Given the description of an element on the screen output the (x, y) to click on. 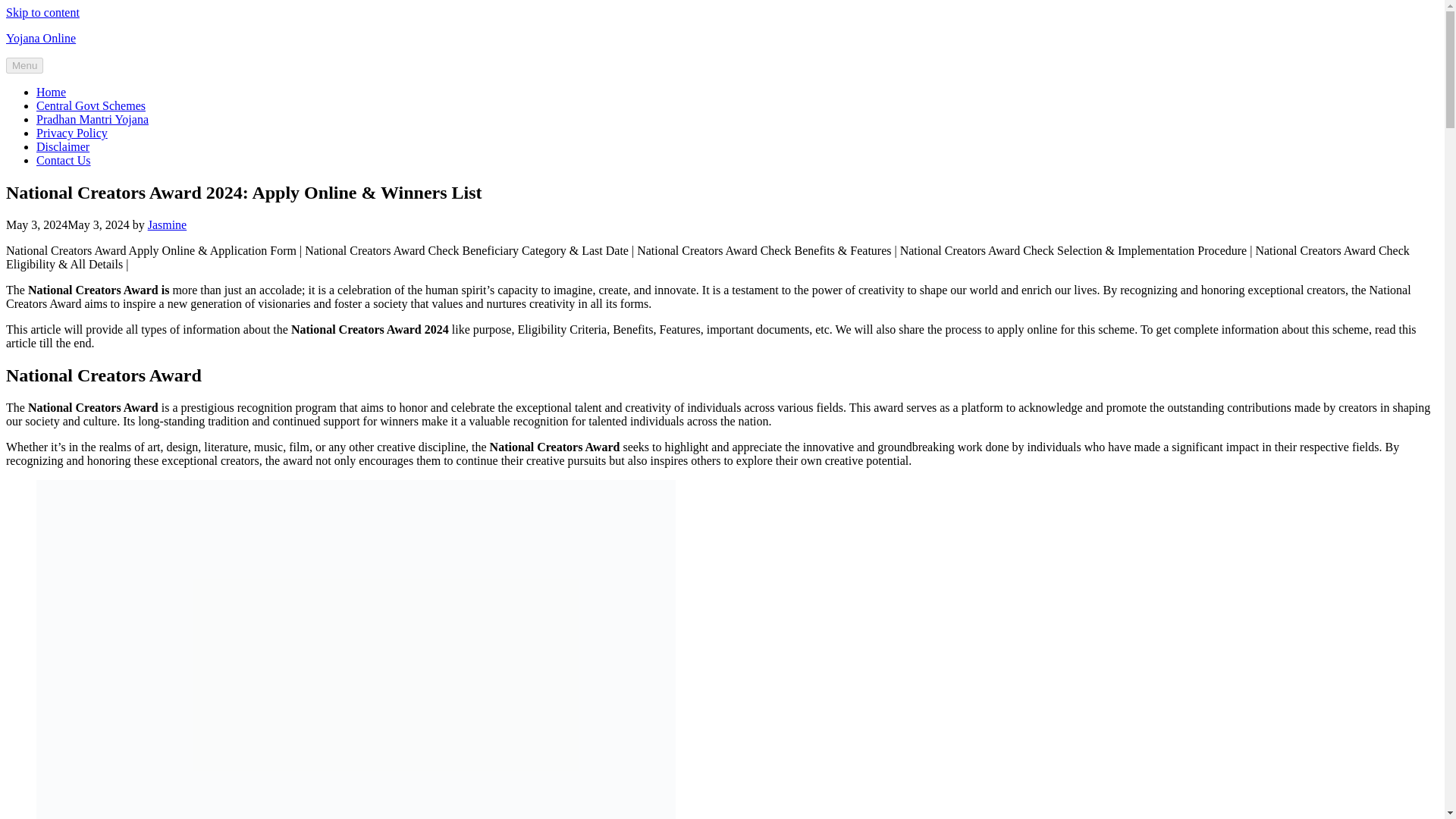
Central Govt Schemes (90, 105)
Home (50, 91)
Skip to content (42, 11)
Menu (24, 65)
Jasmine (167, 224)
Pradhan Mantri Yojana (92, 119)
View all posts by Jasmine (167, 224)
Skip to content (42, 11)
Privacy Policy (71, 132)
Yojana Online (40, 38)
Contact Us (63, 160)
Disclaimer (62, 146)
